Given the description of an element on the screen output the (x, y) to click on. 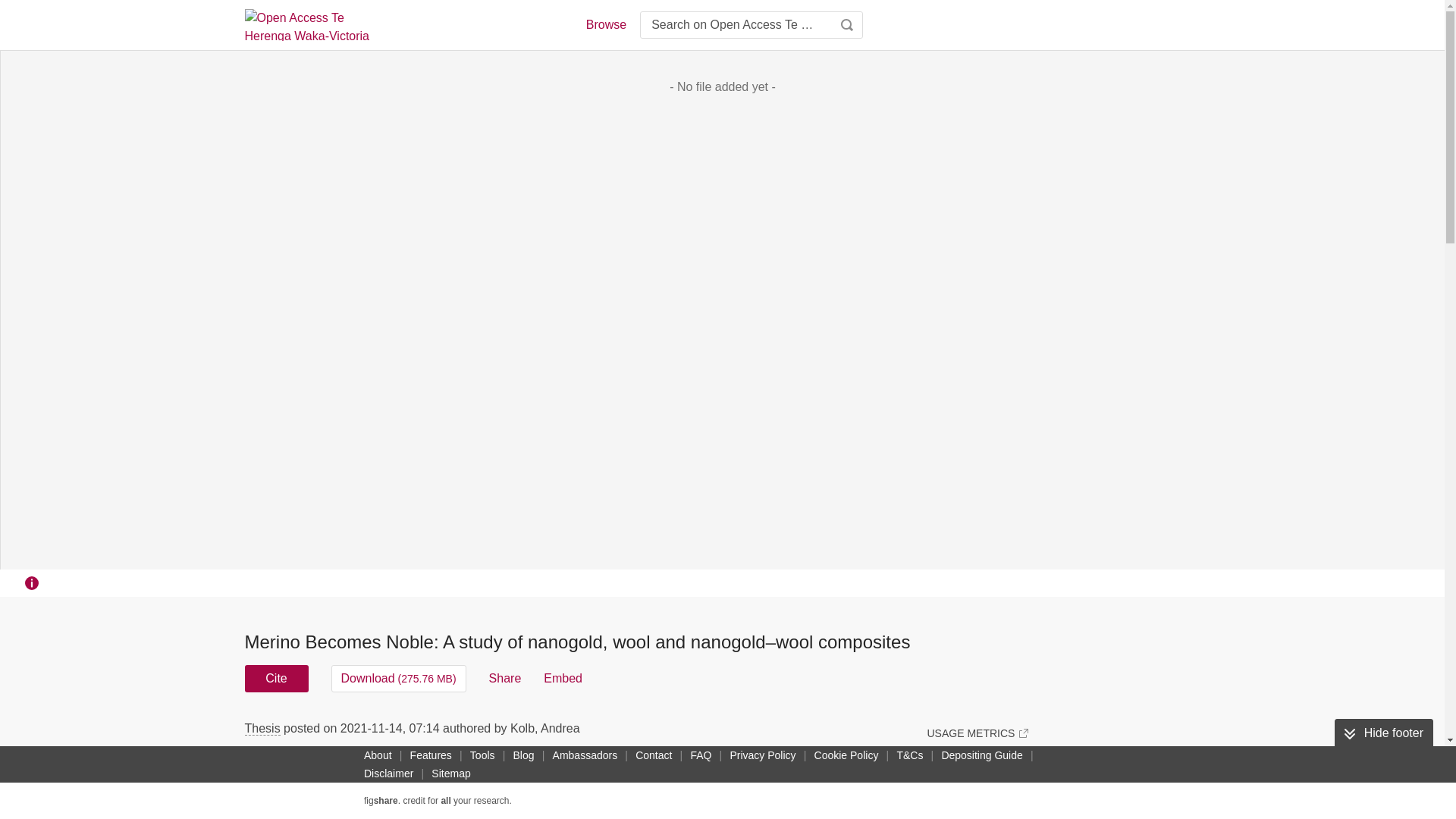
About (377, 755)
Browse (605, 24)
USAGE METRICS (976, 732)
Cite (275, 678)
Ambassadors (585, 755)
Contact (653, 755)
Features (431, 755)
Blog (523, 755)
Embed (562, 678)
Hide footer (1383, 733)
